Given the description of an element on the screen output the (x, y) to click on. 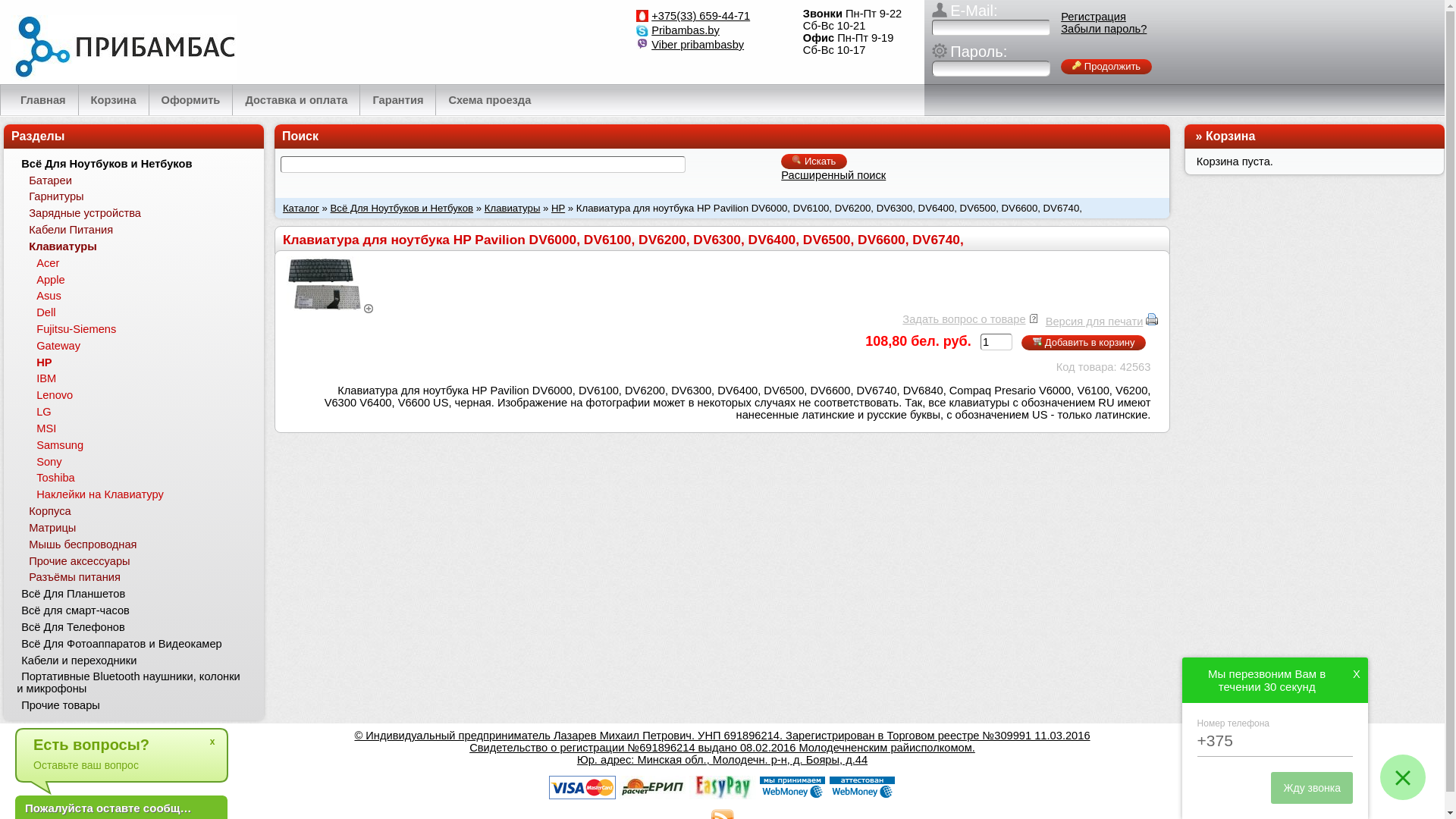
LG Element type: text (138, 411)
IBM Element type: text (138, 378)
Fujitsu-Siemens Element type: text (138, 329)
Asus Element type: text (138, 295)
 Visa Mastercard  Element type: hover (582, 787)
x Element type: text (212, 741)
MSI Element type: text (138, 428)
    X Element type: text (1348, 674)
Sony Element type: text (138, 461)
 EasyPay  Element type: hover (721, 787)
Pribambas.by Element type: hover (118, 40)
Pribambas.by Element type: text (685, 30)
Toshiba Element type: text (138, 477)
Dell Element type: text (138, 312)
LiveZilla Live Chat Element type: text (176, 809)
HP Element type: text (138, 361)
Gateway Element type: text (138, 345)
Acer Element type: text (138, 262)
Lenovo Element type: text (138, 395)
Apple Element type: text (138, 279)
HP Element type: text (557, 207)
Samsung Element type: text (138, 444)
Viber pribambasby Element type: text (697, 44)
+375(33) 659-44-71 Element type: text (700, 15)
